Given the description of an element on the screen output the (x, y) to click on. 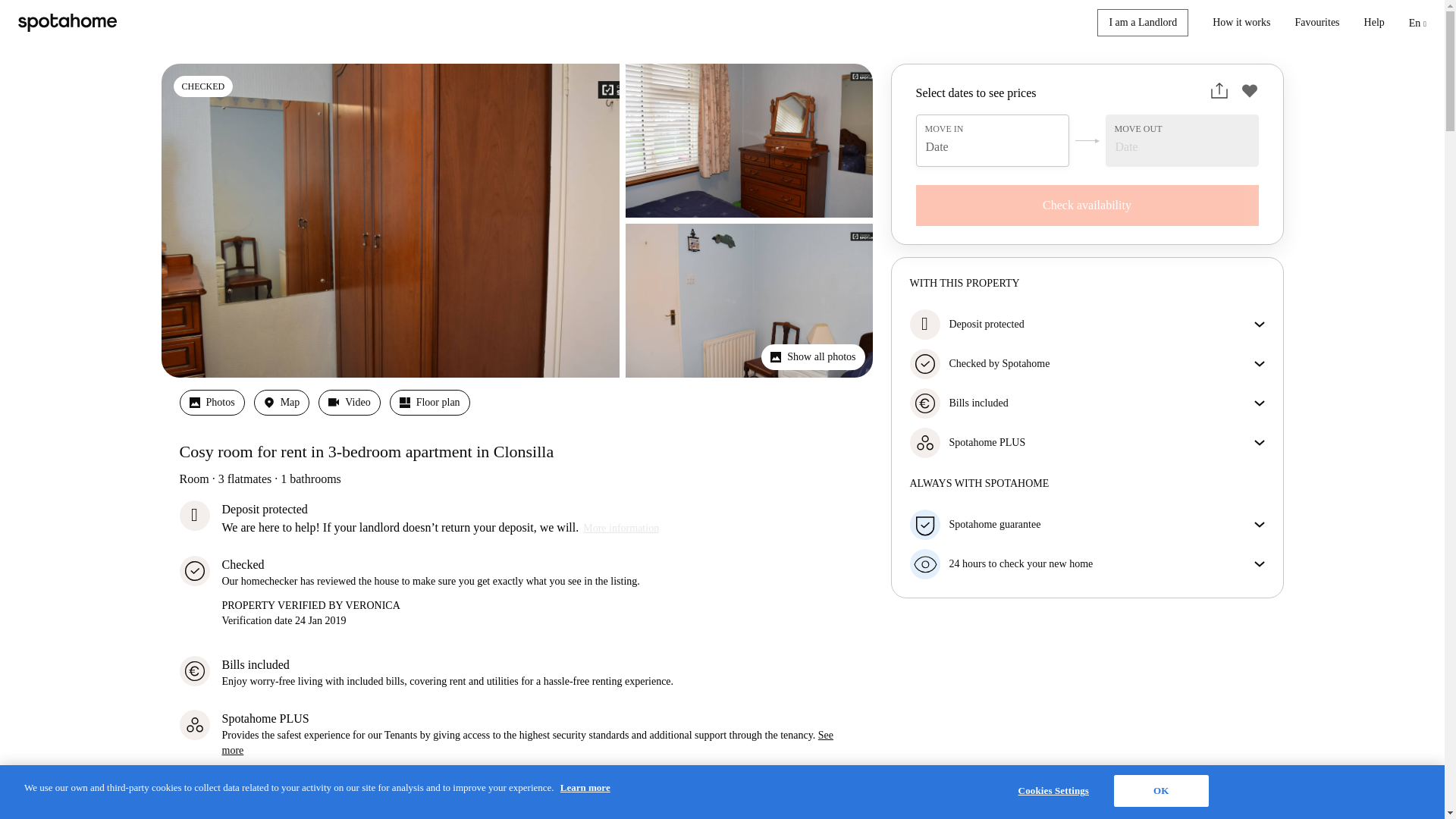
More about this landlord (275, 803)
I am a Landlord (1142, 22)
Favourites (1316, 22)
More information (620, 528)
How it works (1240, 22)
Check availability (1087, 205)
Help (1374, 22)
See more (526, 742)
